Given the description of an element on the screen output the (x, y) to click on. 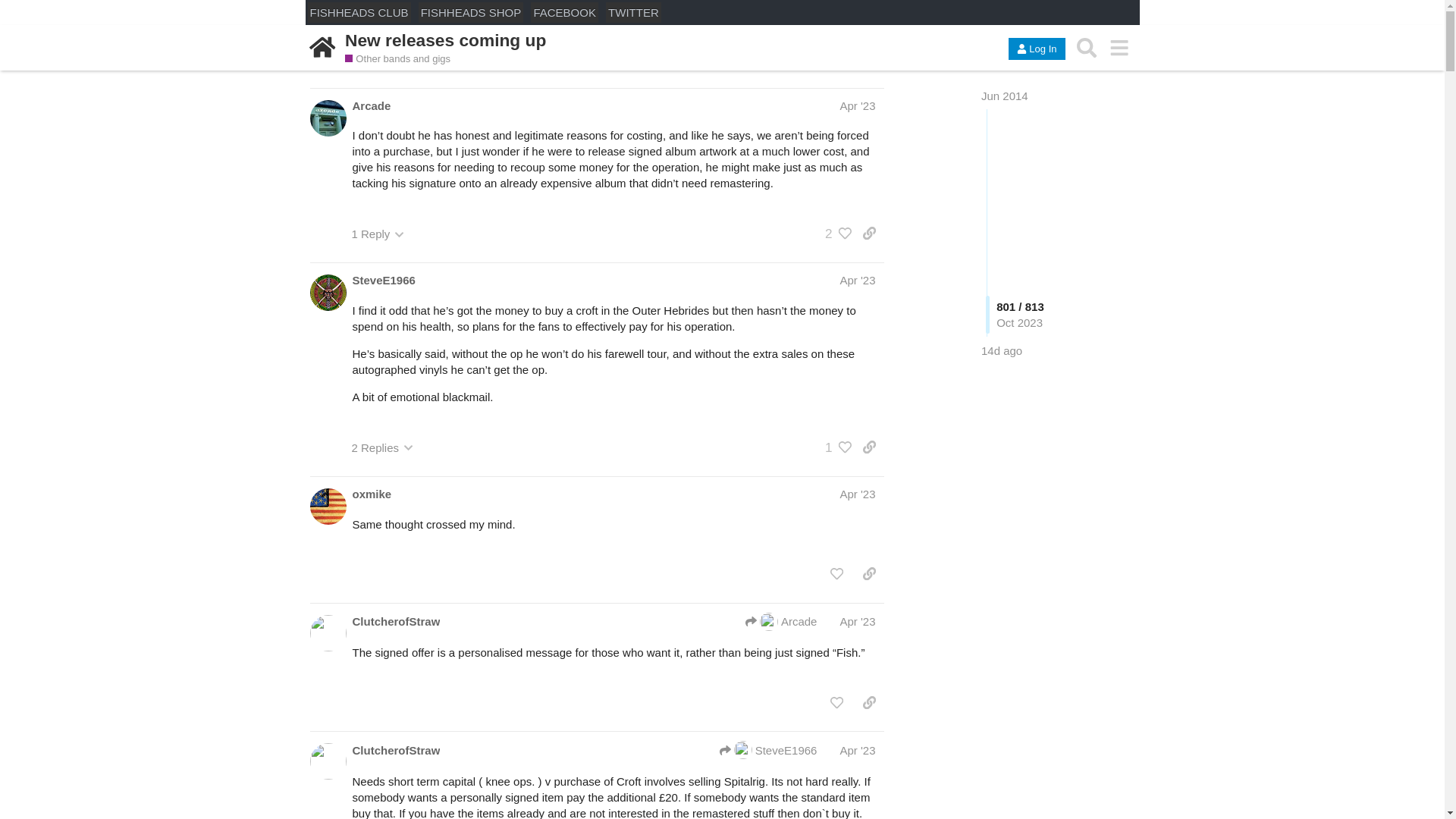
Search (1086, 47)
SteveE1966 (383, 279)
Post date (857, 279)
Post date (857, 493)
Jun 2014 (1004, 95)
Apr '23 (857, 493)
ClutcherofStraw (395, 750)
Arcade (780, 621)
Arcade (371, 105)
14d ago (1001, 350)
1 Reply (377, 233)
Apr '23 (857, 279)
copy a link to this post to clipboard (869, 447)
copy a link to this post to clipboard (869, 233)
